Given the description of an element on the screen output the (x, y) to click on. 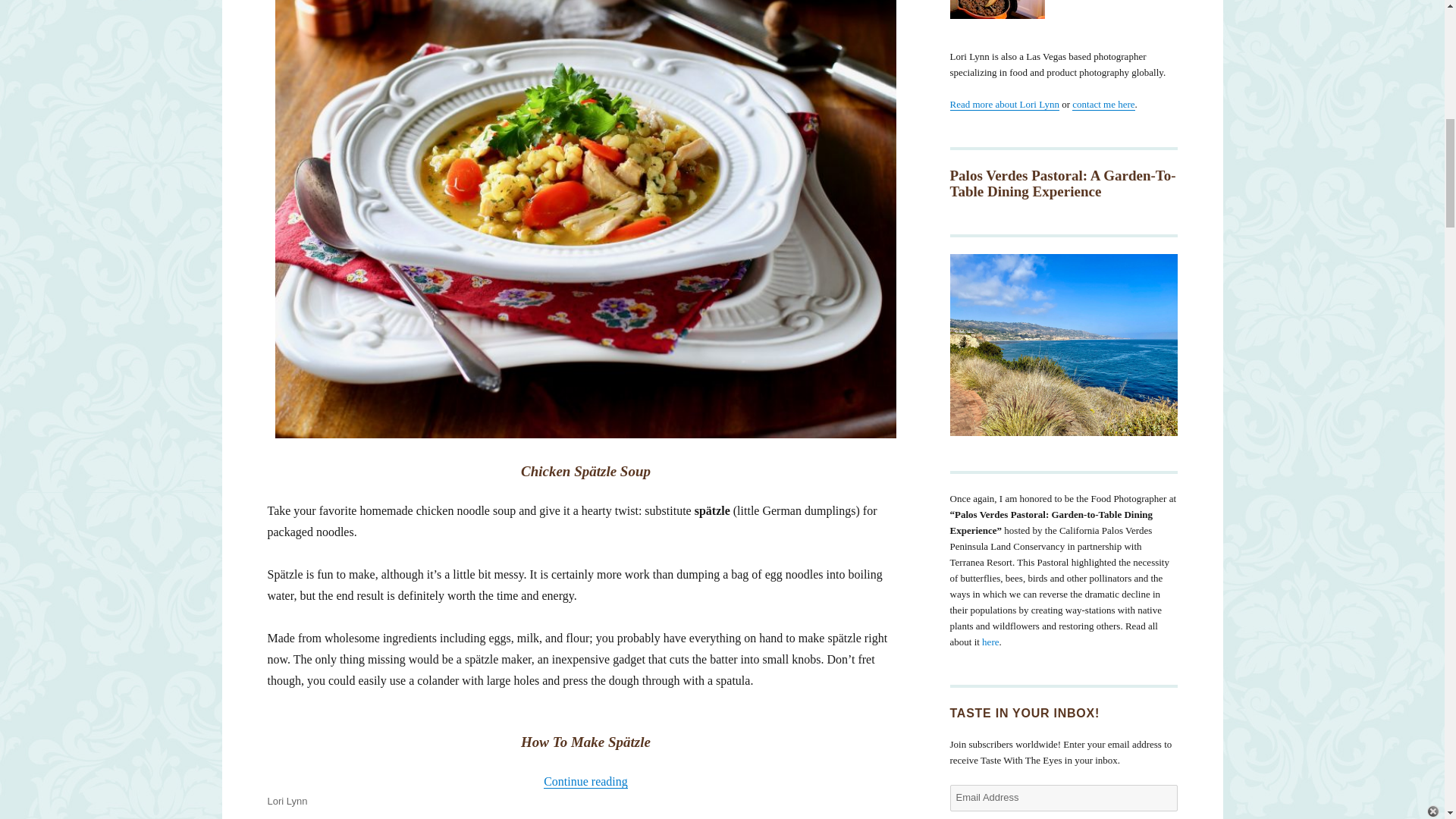
January 25, 2019 (304, 817)
Read more about Lori Lynn (1003, 103)
here (989, 641)
Lori Lynn (286, 800)
contact me here (1102, 103)
